Given the description of an element on the screen output the (x, y) to click on. 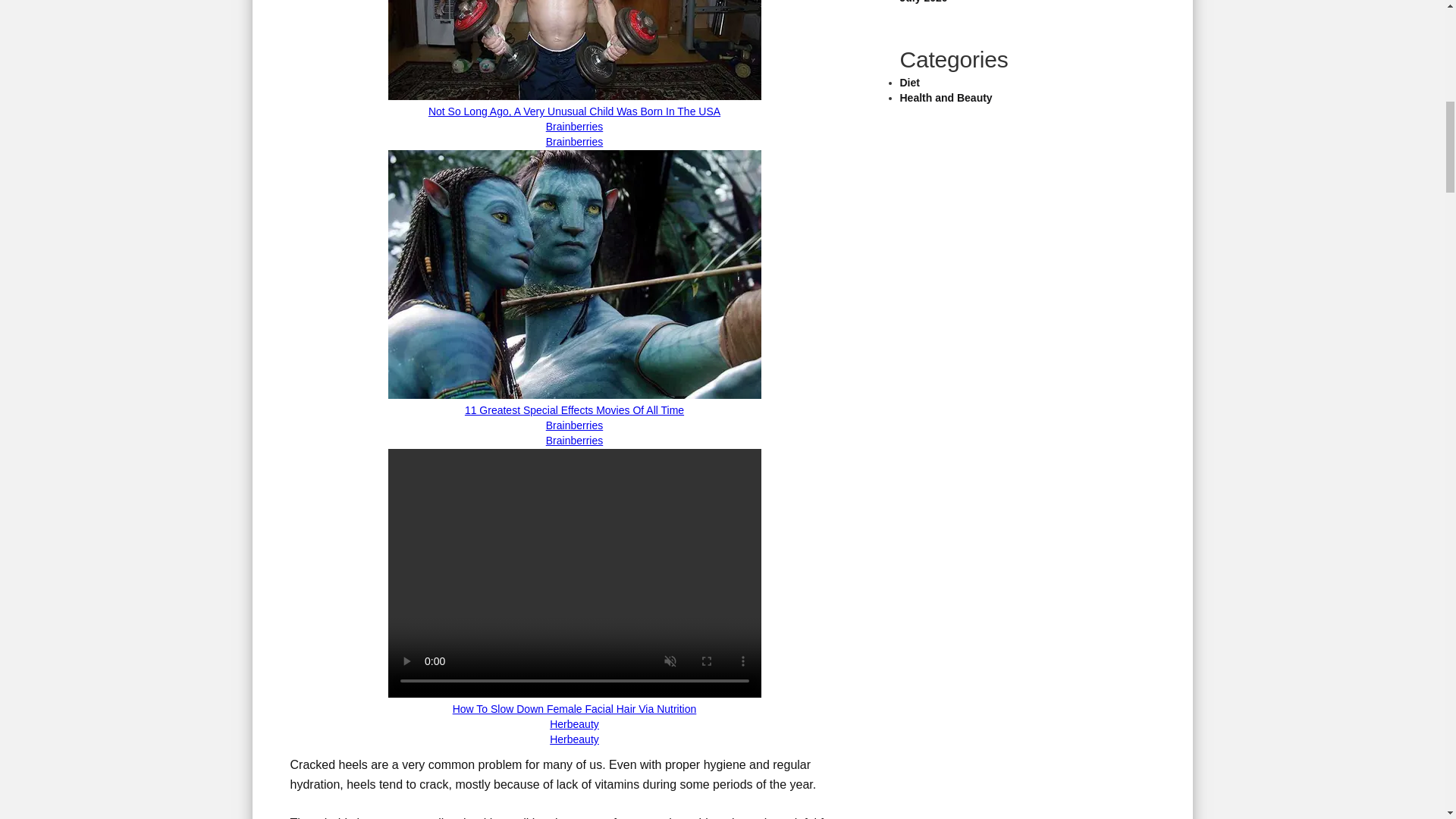
July 2020 (923, 2)
Diet (908, 82)
Health and Beauty (945, 97)
